Given the description of an element on the screen output the (x, y) to click on. 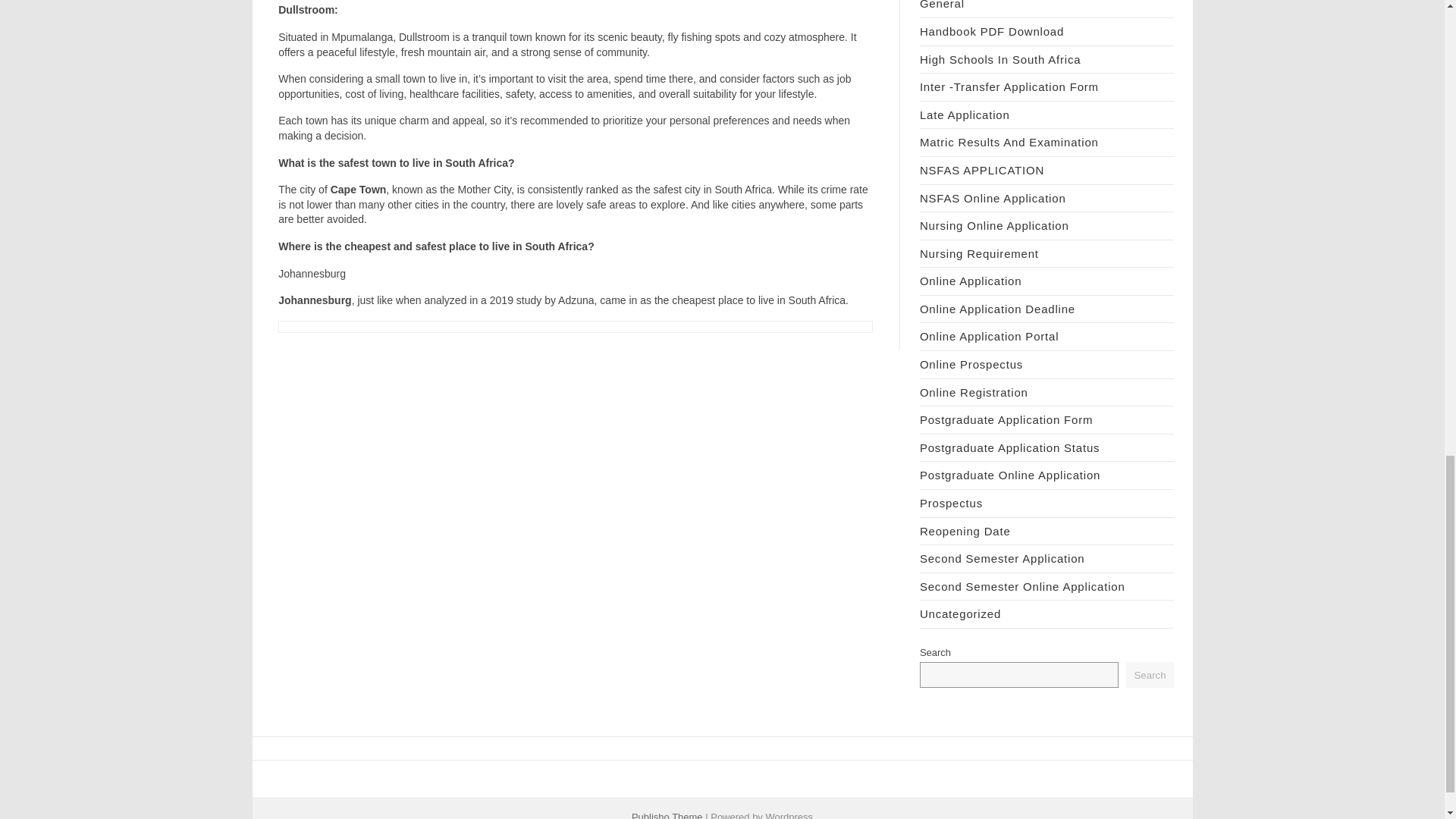
Handbook PDF Download (992, 31)
Online Application Deadline (997, 308)
Online Application Portal (989, 336)
Online Application (971, 280)
High Schools In South Africa (1000, 59)
Nursing Requirement (979, 253)
Nursing Online Application (994, 225)
NSFAS Online Application (992, 197)
General (941, 4)
Late Application (965, 114)
